Given the description of an element on the screen output the (x, y) to click on. 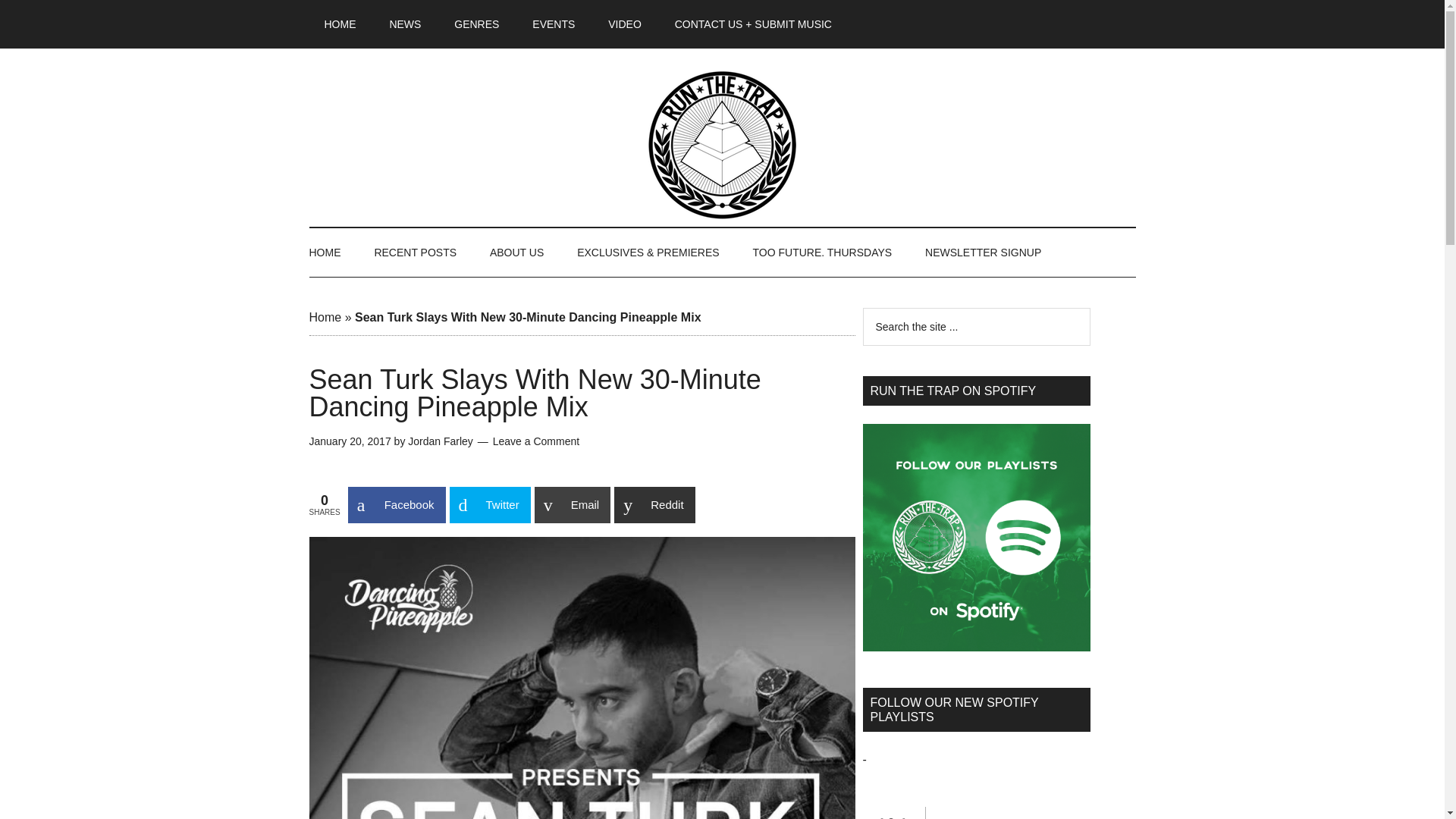
HOME (339, 24)
NEWS (404, 24)
EVENTS (552, 24)
NEWSLETTER SIGNUP (983, 252)
Share on Twitter (488, 504)
Share on Facebook (396, 504)
TOO FUTURE. THURSDAYS (822, 252)
Share on Reddit (654, 504)
VIDEO (624, 24)
Leave a Comment (536, 440)
Jordan Farley (440, 440)
Reddit (654, 504)
RECENT POSTS (414, 252)
